Given the description of an element on the screen output the (x, y) to click on. 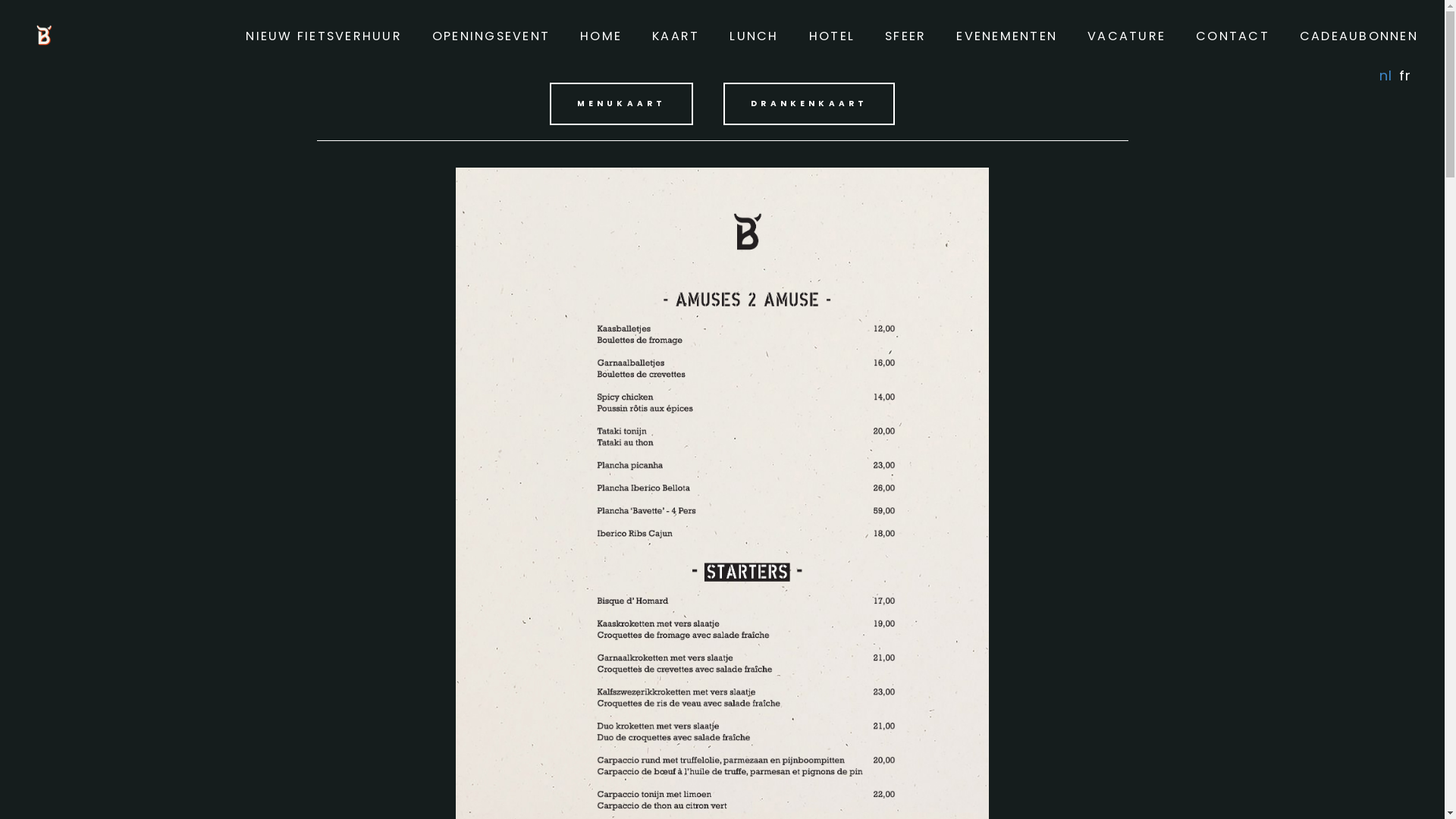
KAART Element type: text (675, 35)
SFEER Element type: text (904, 35)
CADEAUBONNEN Element type: text (1358, 35)
HOME Element type: text (600, 35)
EVENEMENTEN Element type: text (1006, 35)
MENUKAART Element type: text (621, 103)
HOTEL Element type: text (831, 35)
VACATURE Element type: text (1126, 35)
NIEUW FIETSVERHUUR Element type: text (323, 35)
fr Element type: text (1404, 76)
LUNCH Element type: text (753, 35)
CONTACT Element type: text (1232, 35)
OPENINGSEVENT Element type: text (490, 35)
nl Element type: text (1385, 76)
DRANKENKAART Element type: text (808, 103)
